Given the description of an element on the screen output the (x, y) to click on. 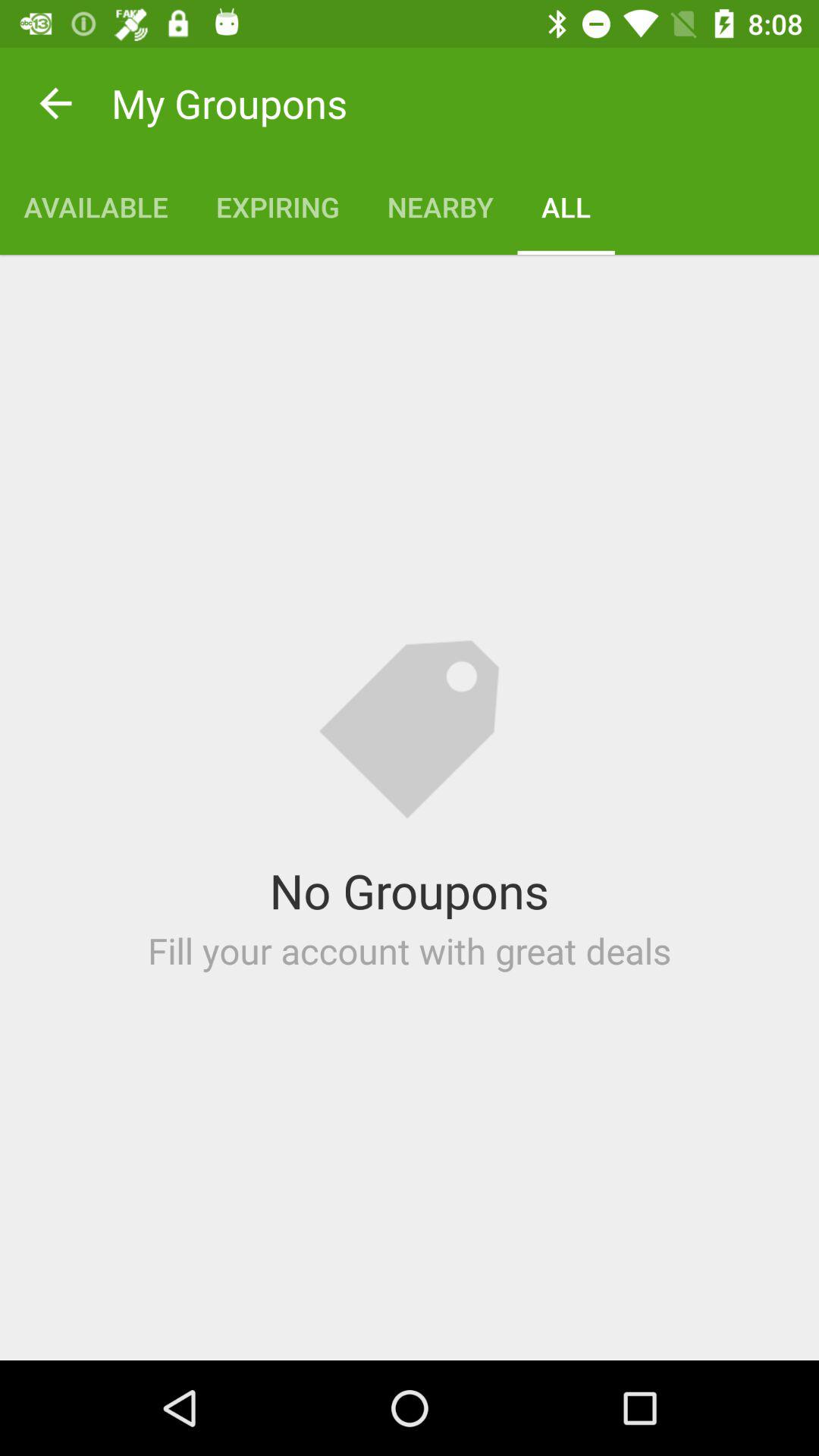
turn off the available icon (96, 206)
